Given the description of an element on the screen output the (x, y) to click on. 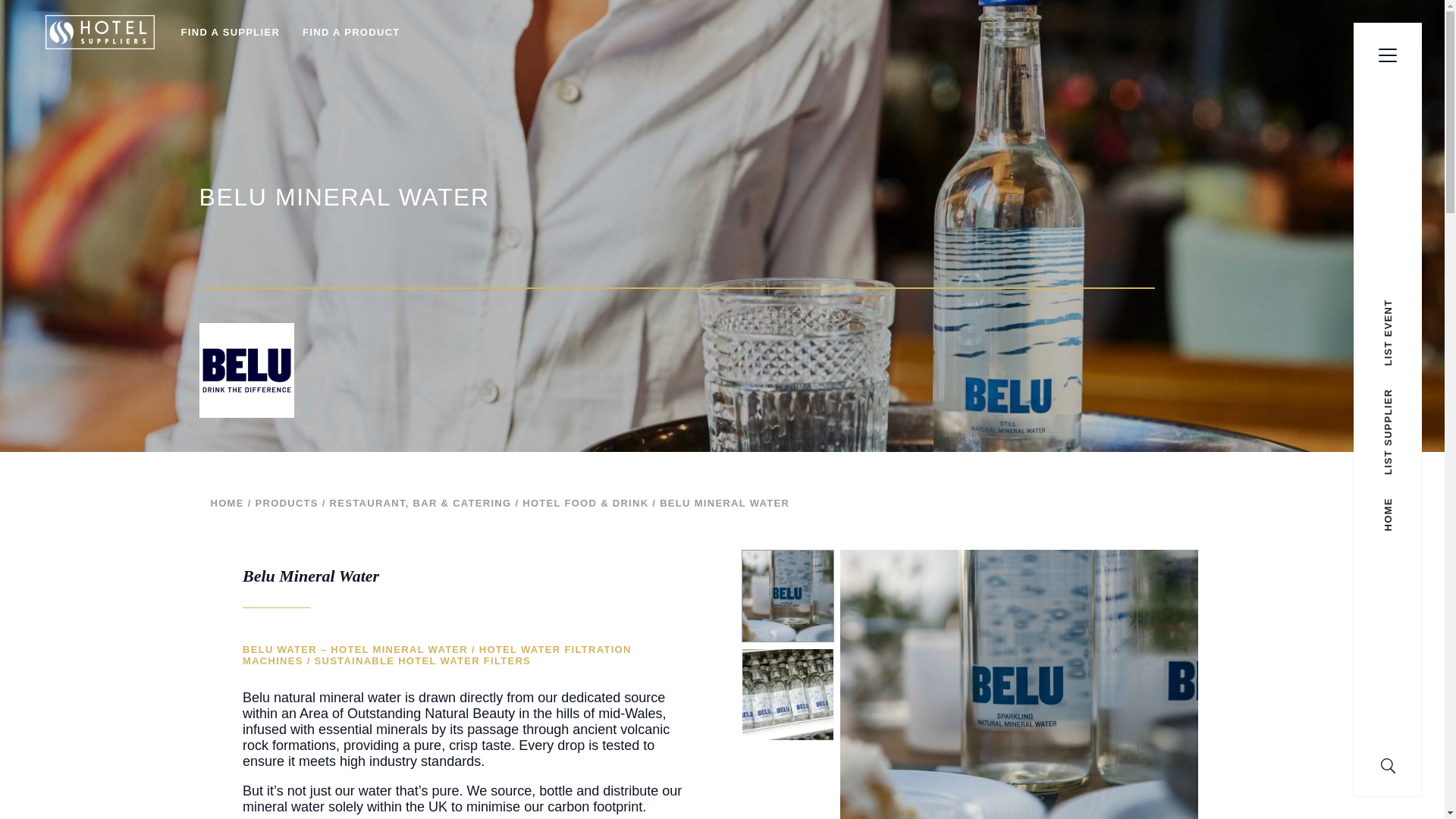
FIND A PRODUCT (350, 32)
FIND A SUPPLIER (231, 32)
PRODUCTS (285, 502)
HOME (227, 502)
